Given the description of an element on the screen output the (x, y) to click on. 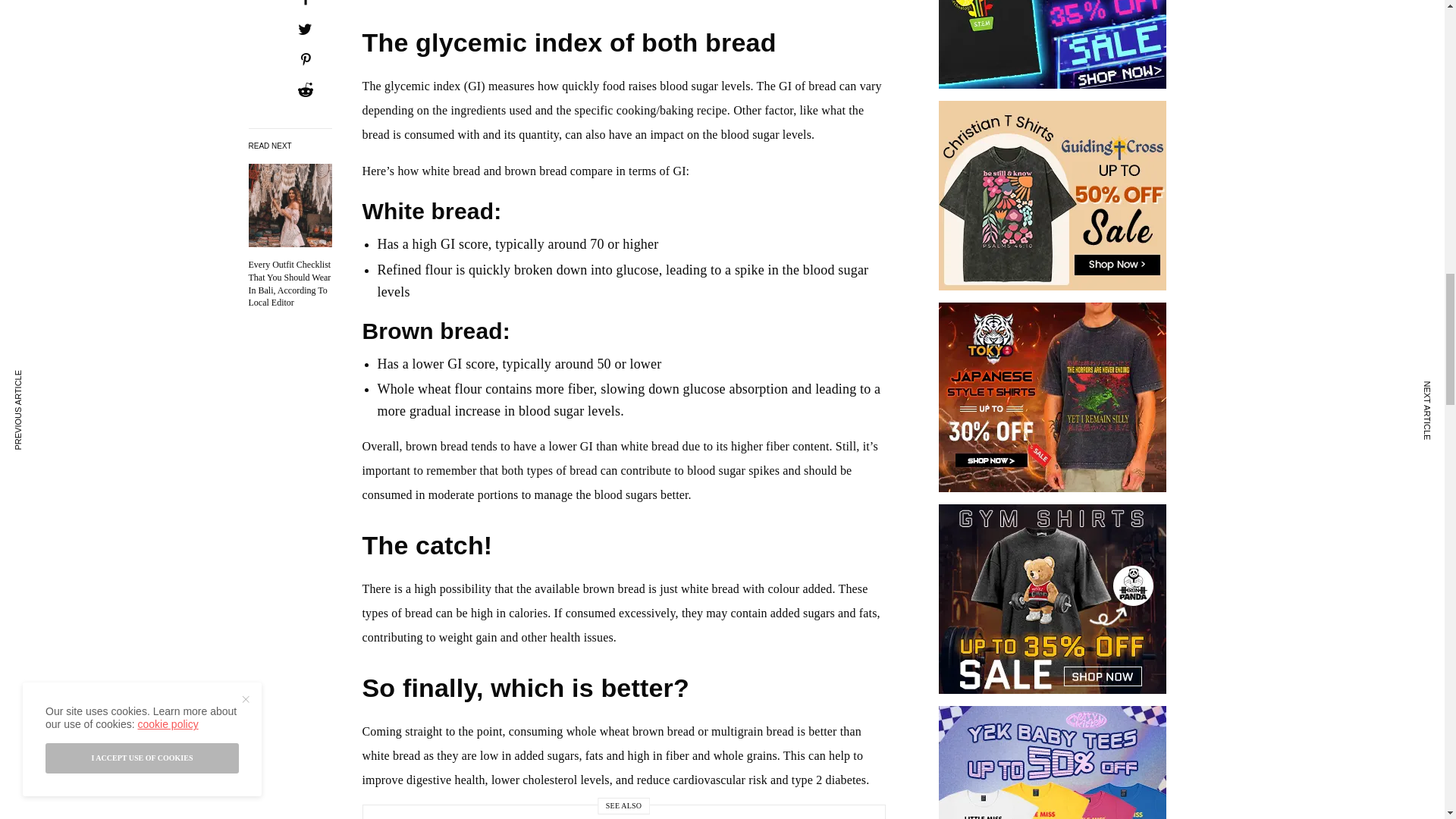
baby tees (1052, 402)
oversized shirt (1052, 765)
Japanese t shirts (1052, 47)
White Bread vs Brown Bread: What is healthier? (289, 283)
teacher shirt (1052, 604)
gym shirts (1052, 200)
